Given the description of an element on the screen output the (x, y) to click on. 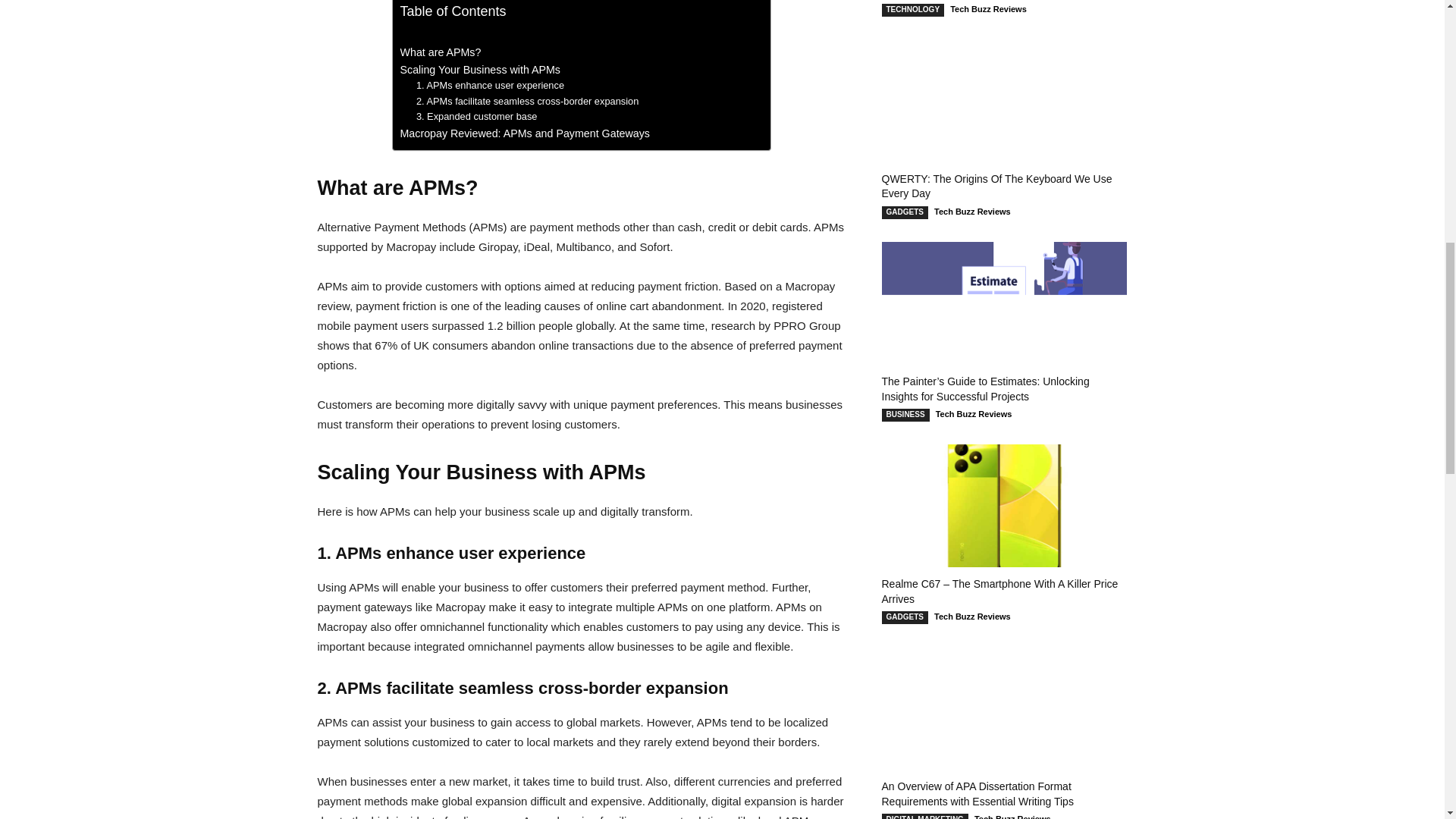
Scaling Your Business with APMs (480, 69)
3. Expanded customer base (476, 116)
What are APMs? (440, 52)
1. APMs enhance user experience (490, 85)
Macropay Reviewed: APMs and Payment Gateways (524, 133)
2. APMs facilitate seamless cross-border expansion (527, 101)
